Given the description of an element on the screen output the (x, y) to click on. 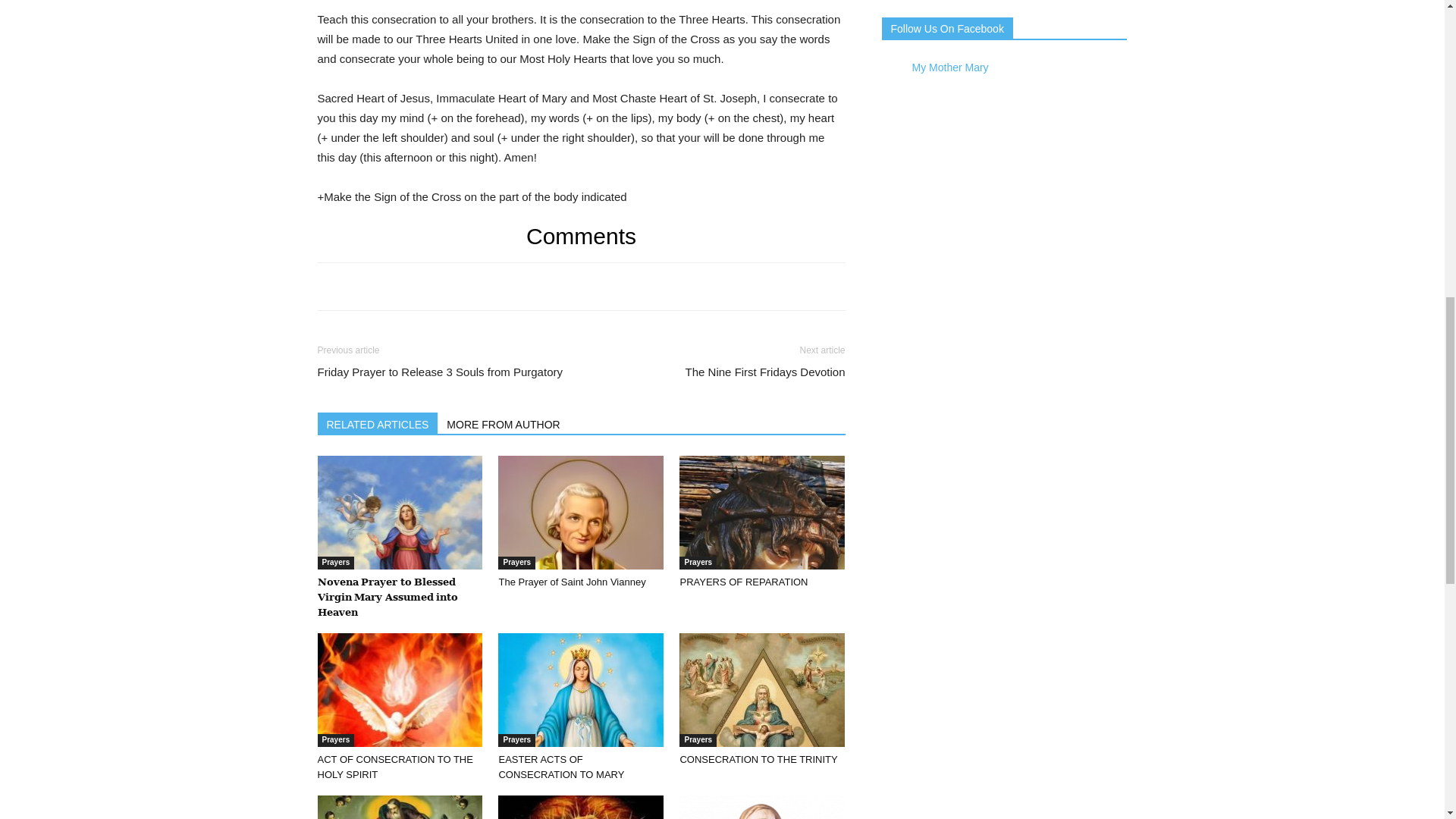
PRAYERS OF REPARATION (761, 512)
ACT OF CONSECRATION TO THE HOLY SPIRIT (394, 766)
The Prayer of Saint John Vianney (580, 512)
The Prayer of Saint John Vianney (571, 582)
PRAYERS OF REPARATION (743, 582)
ACT OF CONSECRATION TO THE HOLY SPIRIT (399, 689)
